Given the description of an element on the screen output the (x, y) to click on. 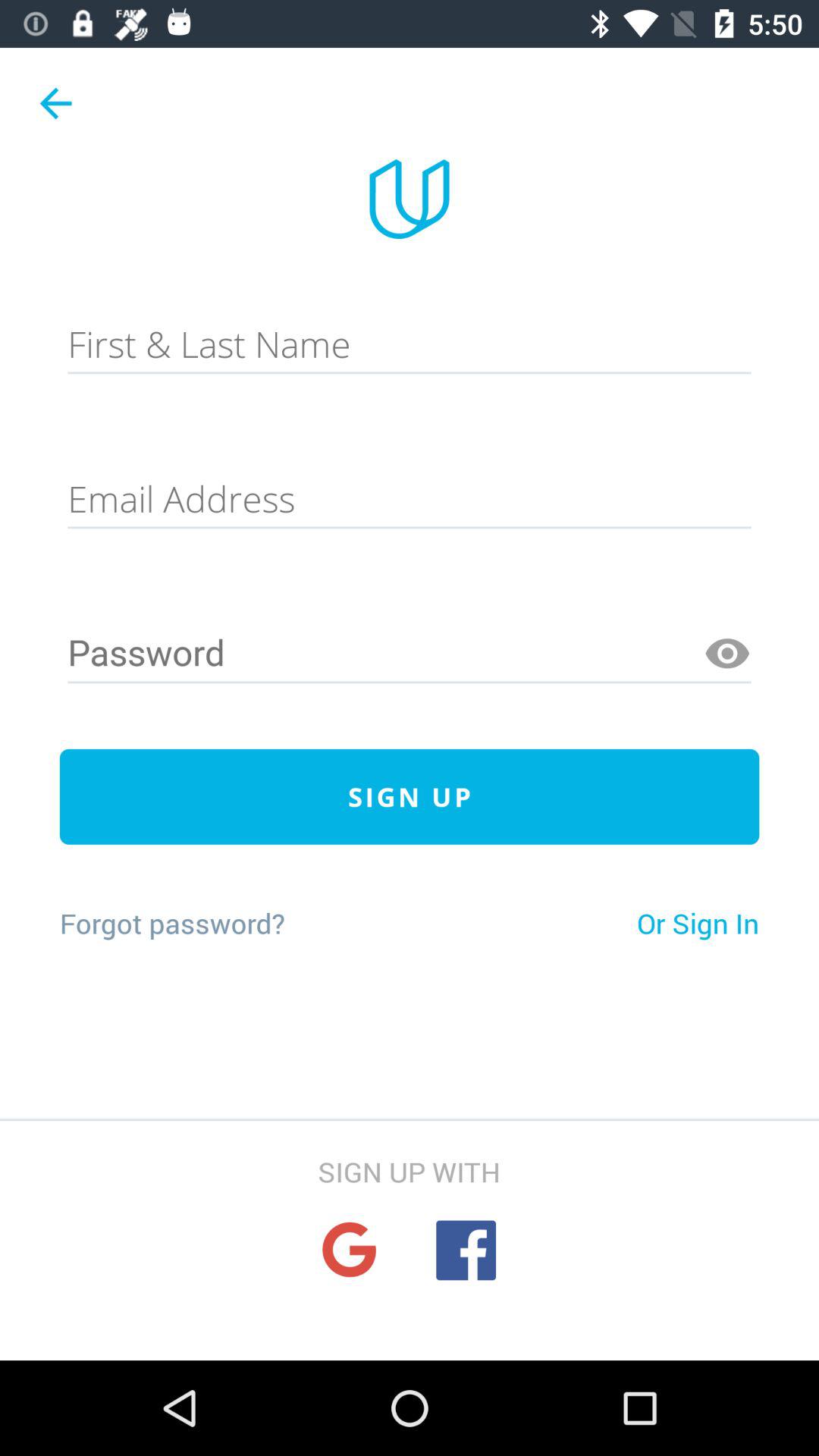
see password letters or numbers (727, 653)
